Given the description of an element on the screen output the (x, y) to click on. 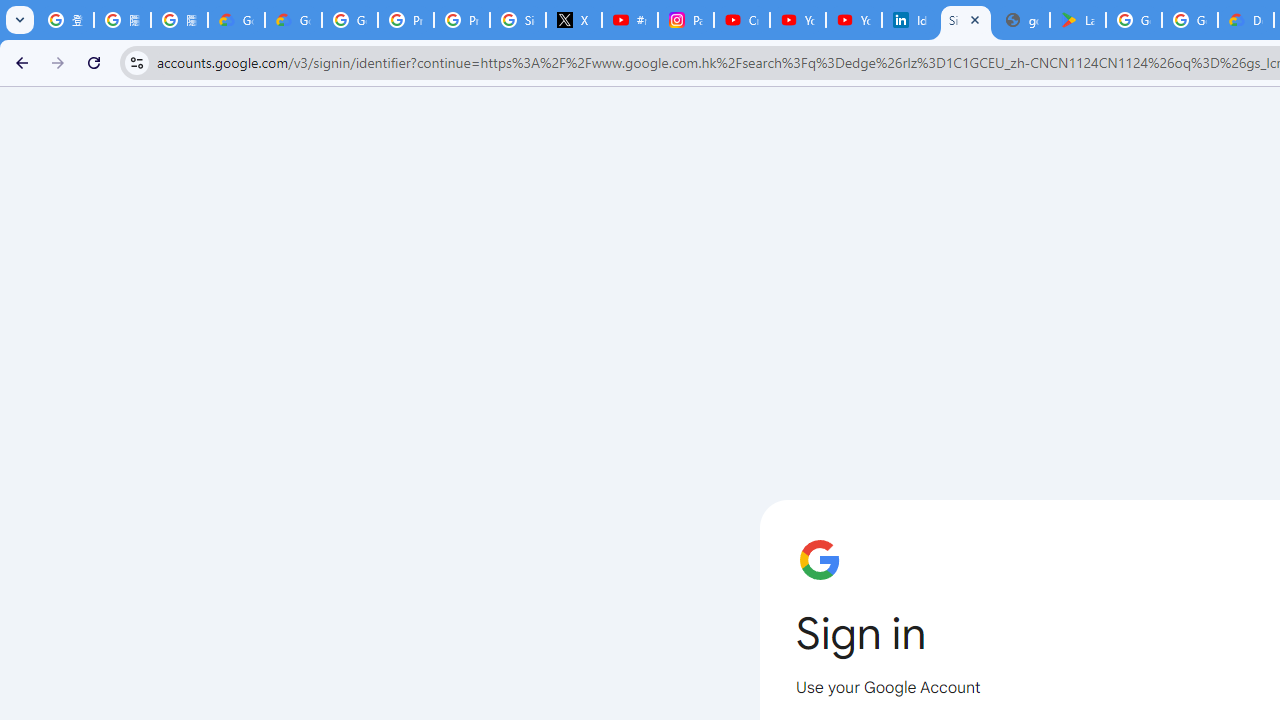
Google Cloud Privacy Notice (235, 20)
Google Cloud Privacy Notice (293, 20)
Privacy Help Center - Policies Help (405, 20)
Sign in - Google Accounts (966, 20)
YouTube Culture & Trends - YouTube Top 10, 2021 (853, 20)
X (573, 20)
